Given the description of an element on the screen output the (x, y) to click on. 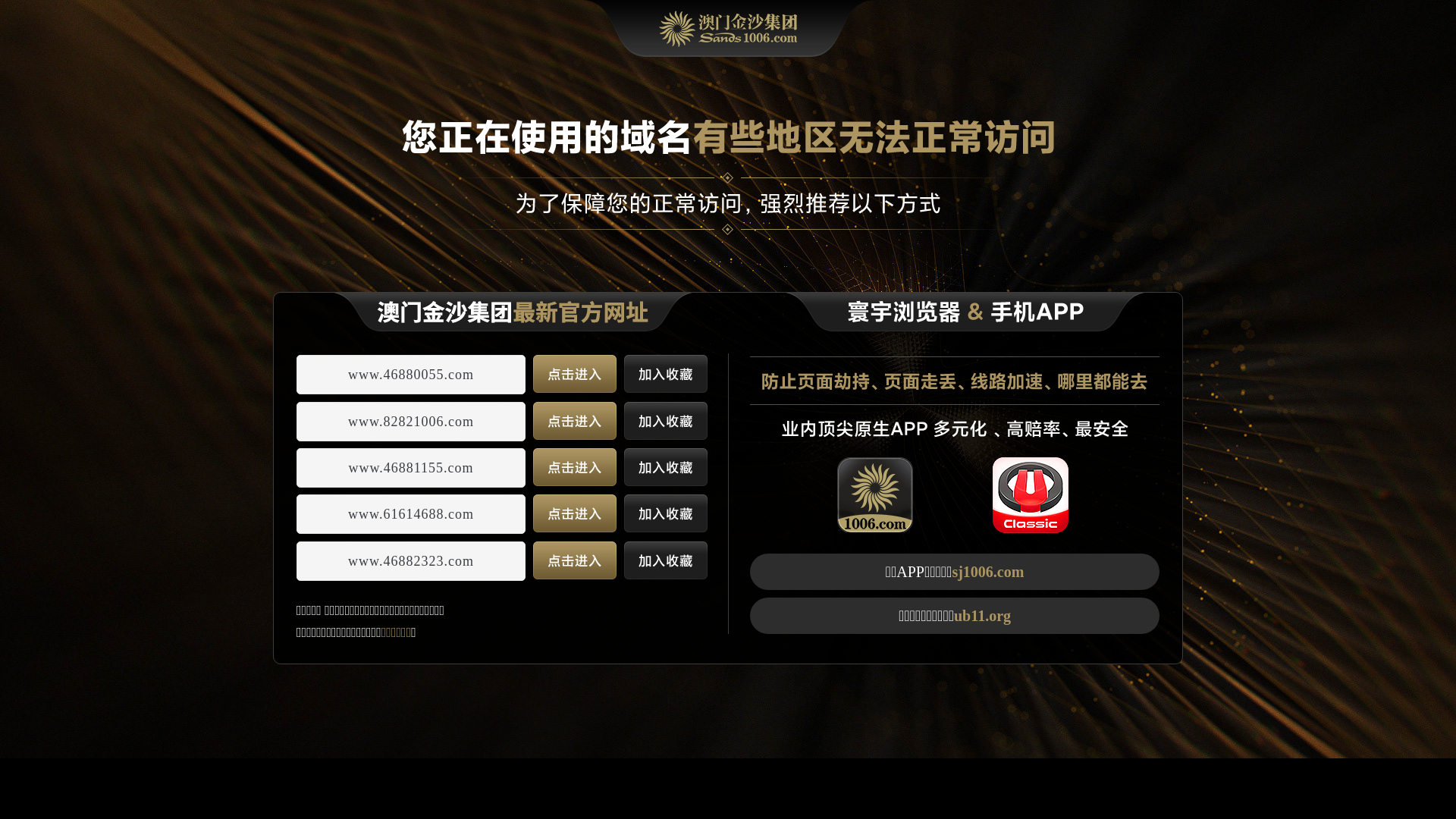
sj1006.com Element type: text (987, 571)
ub11.org Element type: text (981, 615)
